Given the description of an element on the screen output the (x, y) to click on. 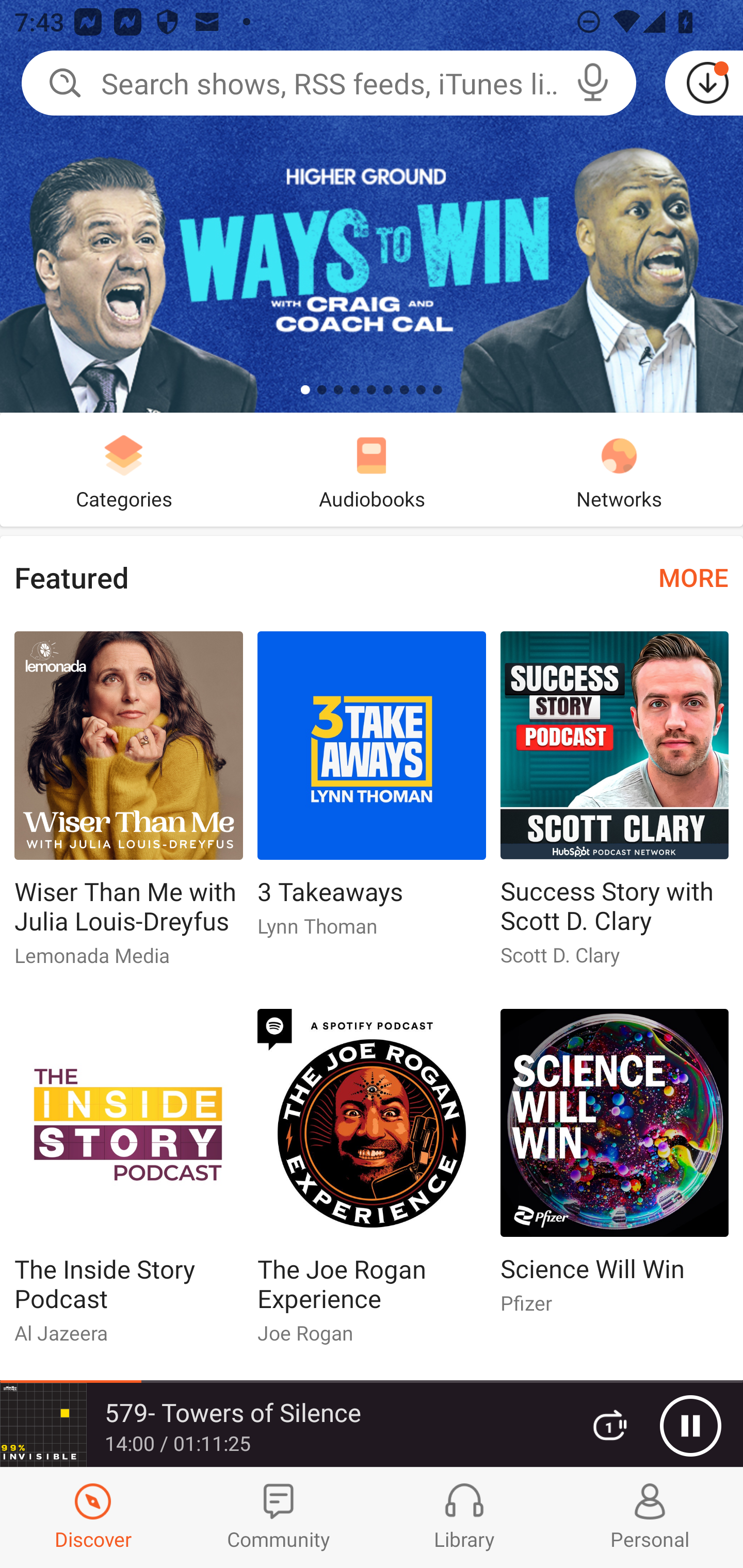
Ways To Win (371, 206)
Categories (123, 469)
Audiobooks (371, 469)
Networks (619, 469)
MORE (693, 576)
3 Takeaways 3 Takeaways Lynn Thoman (371, 792)
Science Will Win Science Will Win Pfizer (614, 1169)
579- Towers of Silence 14:00 / 01:11:25 (283, 1424)
Pause (690, 1425)
Discover (92, 1517)
Community (278, 1517)
Library (464, 1517)
Profiles and Settings Personal (650, 1517)
